Given the description of an element on the screen output the (x, y) to click on. 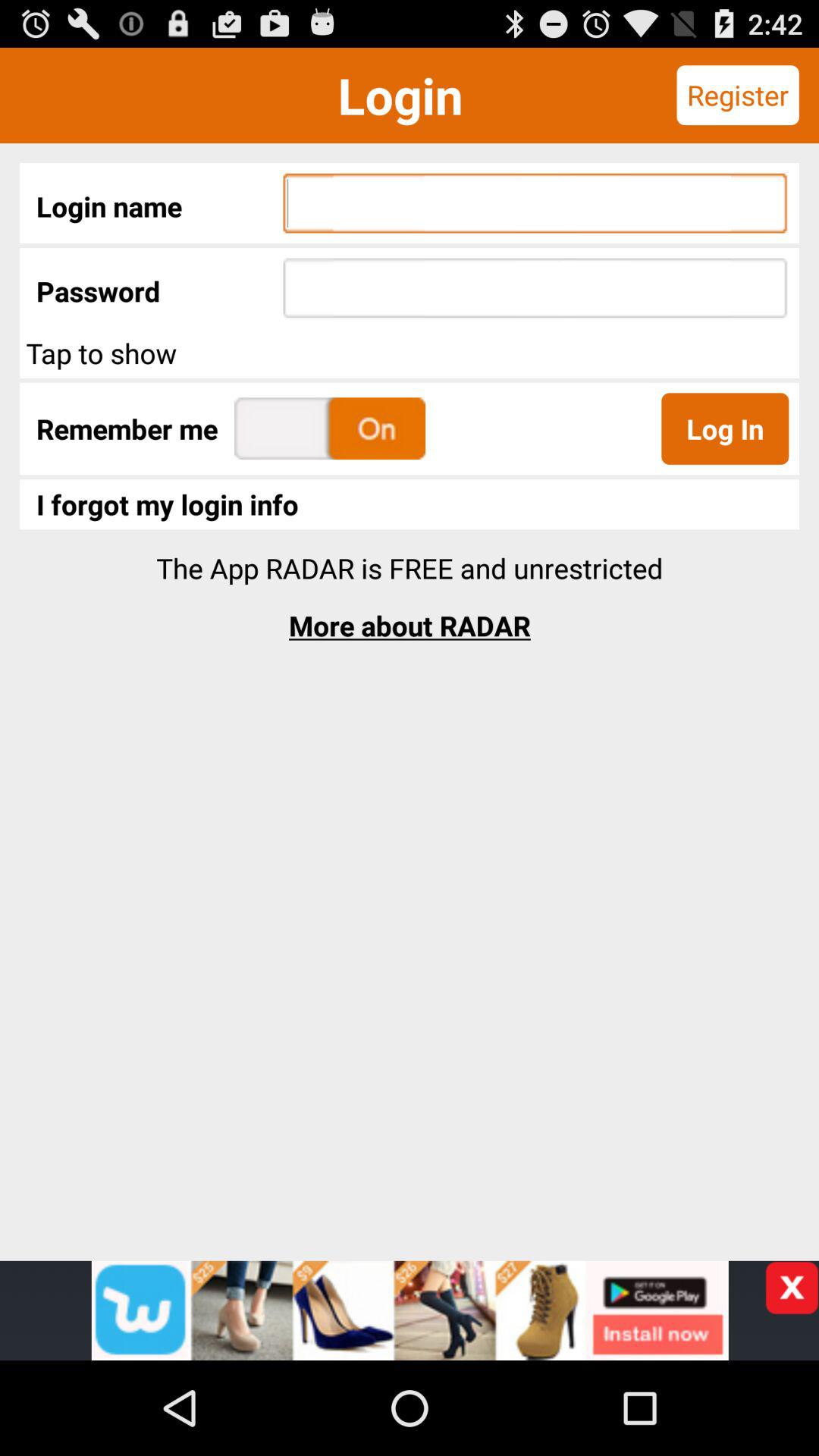
advertisement (409, 1310)
